Given the description of an element on the screen output the (x, y) to click on. 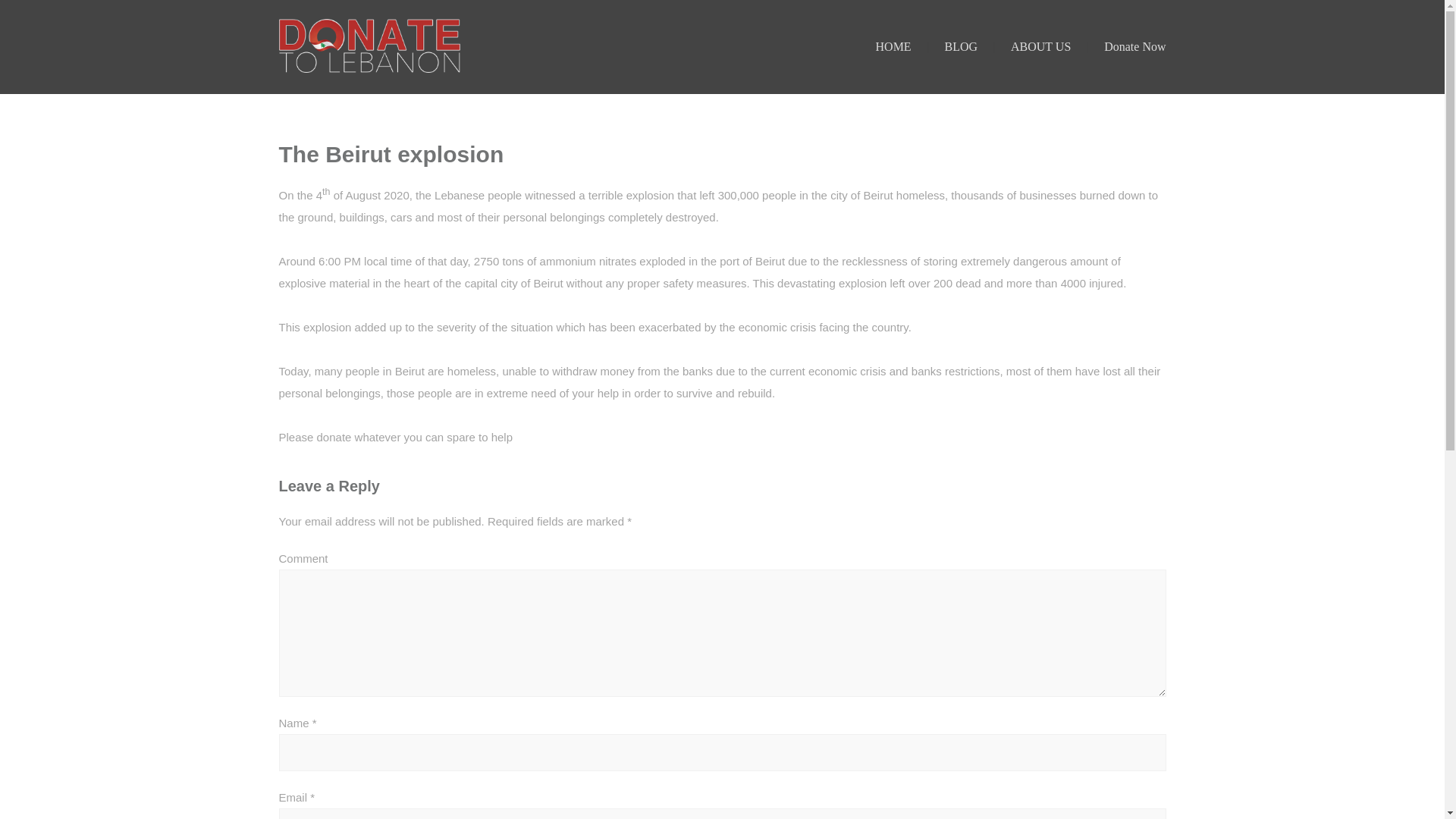
HOME (893, 46)
Donate Now (1134, 46)
BLOG (961, 46)
ABOUT US (1040, 46)
